Given the description of an element on the screen output the (x, y) to click on. 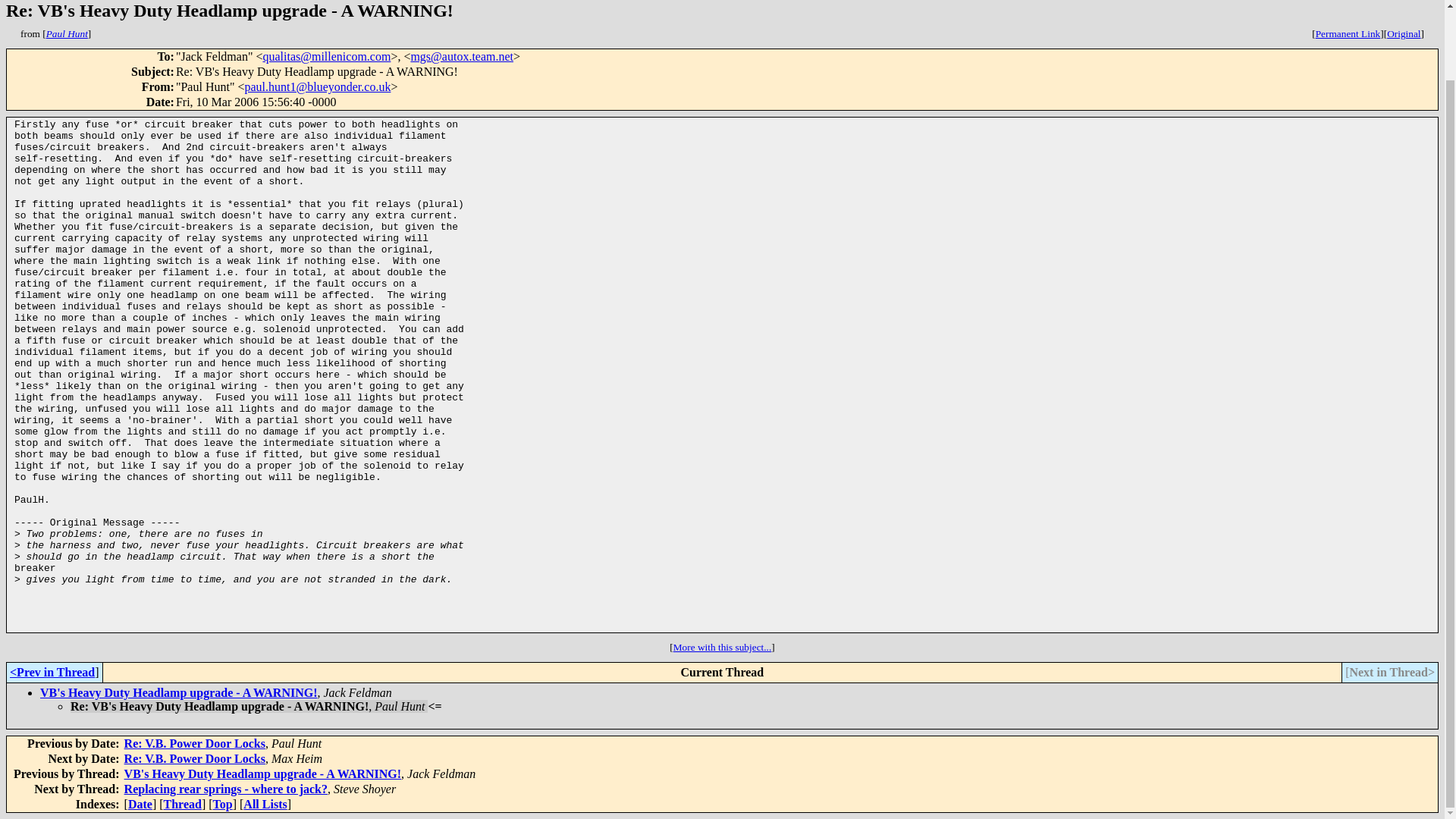
Top (222, 803)
Replacing rear springs - where to jack? (225, 788)
Re: V.B. Power Door Locks (193, 758)
VB's Heavy Duty Headlamp upgrade - A WARNING! (178, 692)
Permanent Link (1348, 33)
All Lists (264, 803)
VB's Heavy Duty Headlamp upgrade - A WARNING! (262, 773)
More with this subject... (721, 646)
Re: V.B. Power Door Locks (193, 743)
Thread (182, 803)
